Given the description of an element on the screen output the (x, y) to click on. 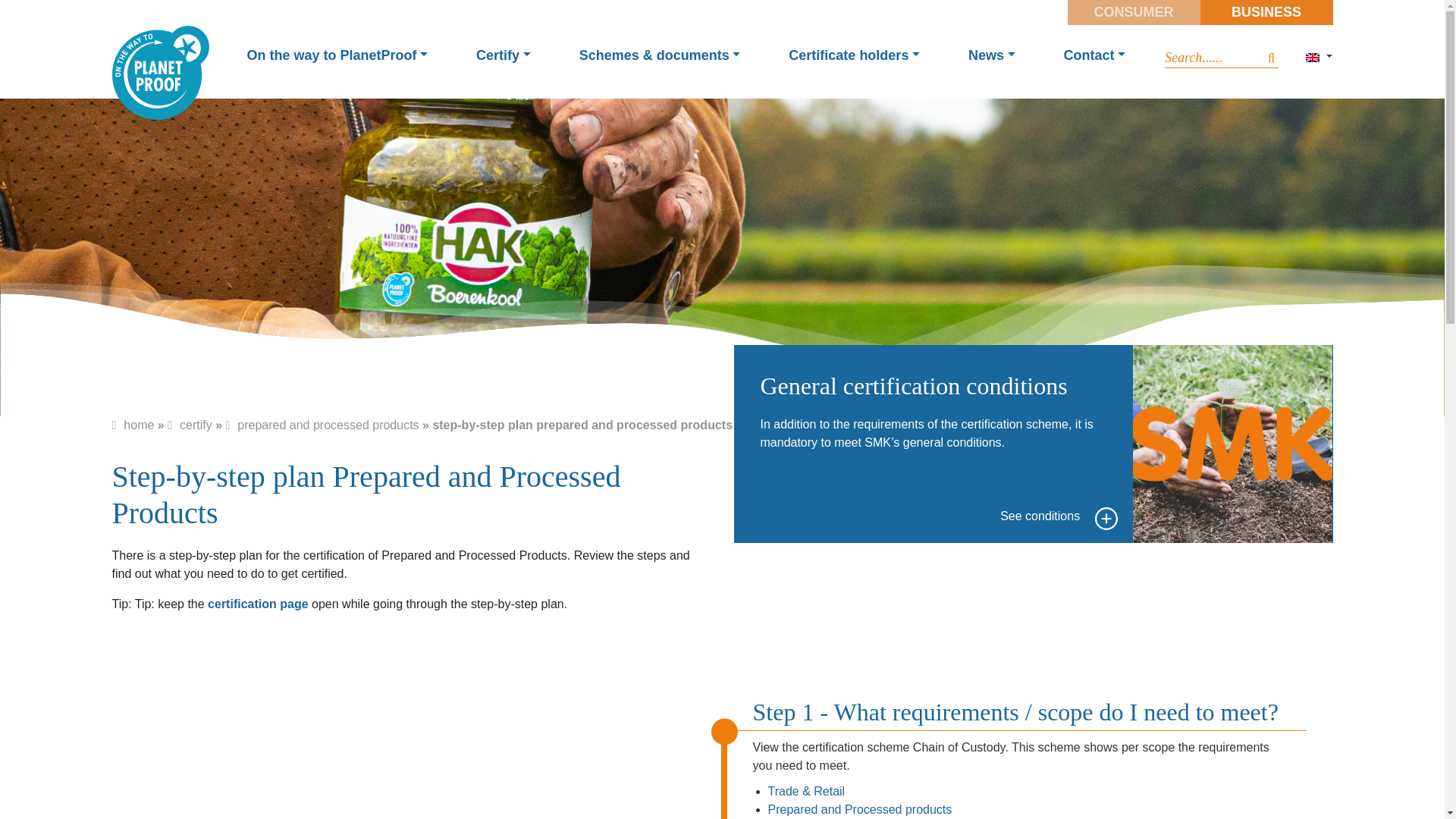
Business (1266, 11)
Search... (1193, 57)
Certify (503, 55)
See conditions (1061, 516)
News (992, 55)
On the way to PlanetProof (337, 55)
Consumer (1133, 11)
Certificate holders (854, 55)
Contact (1095, 55)
